Given the description of an element on the screen output the (x, y) to click on. 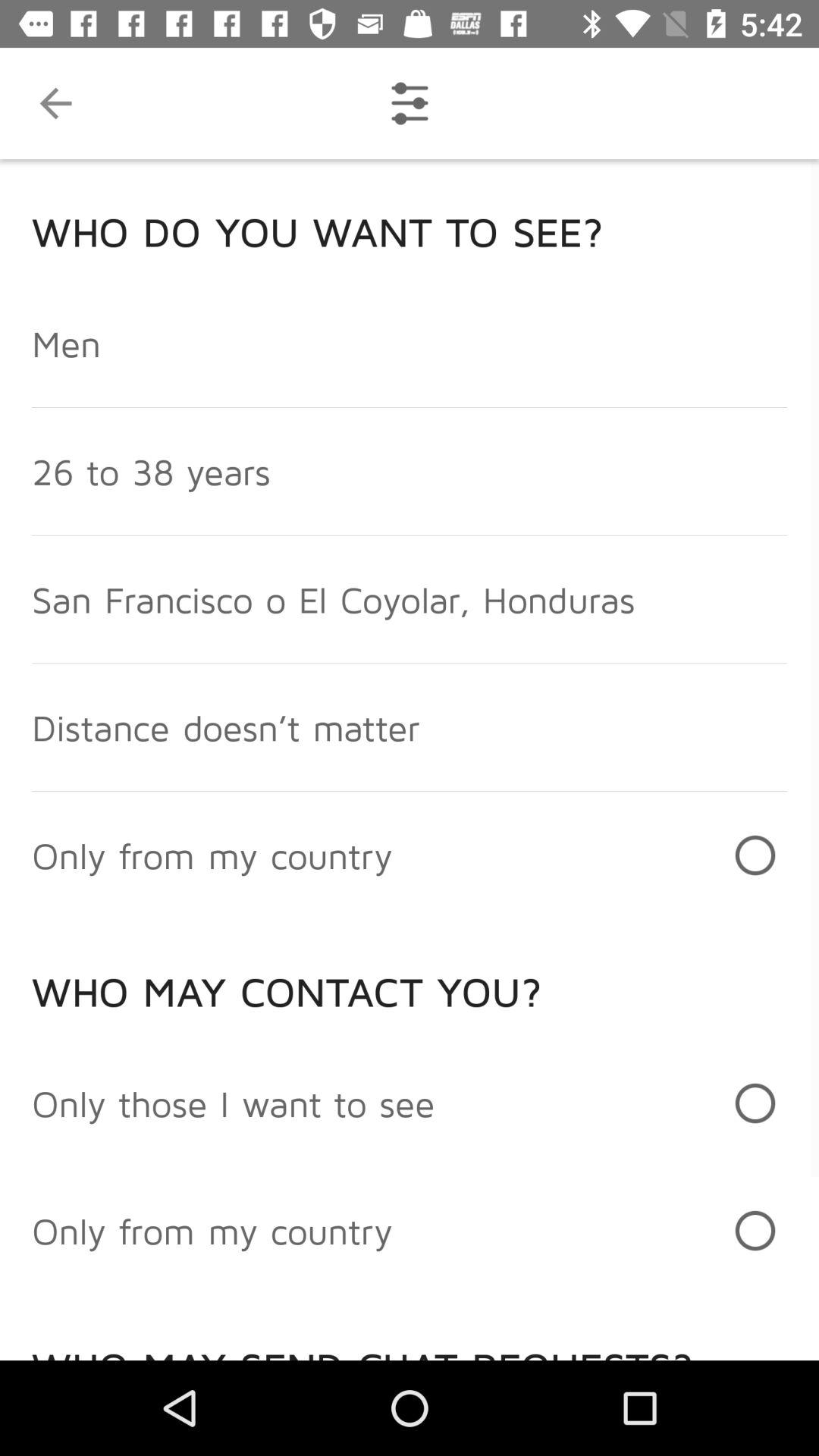
flip to men (66, 343)
